Given the description of an element on the screen output the (x, y) to click on. 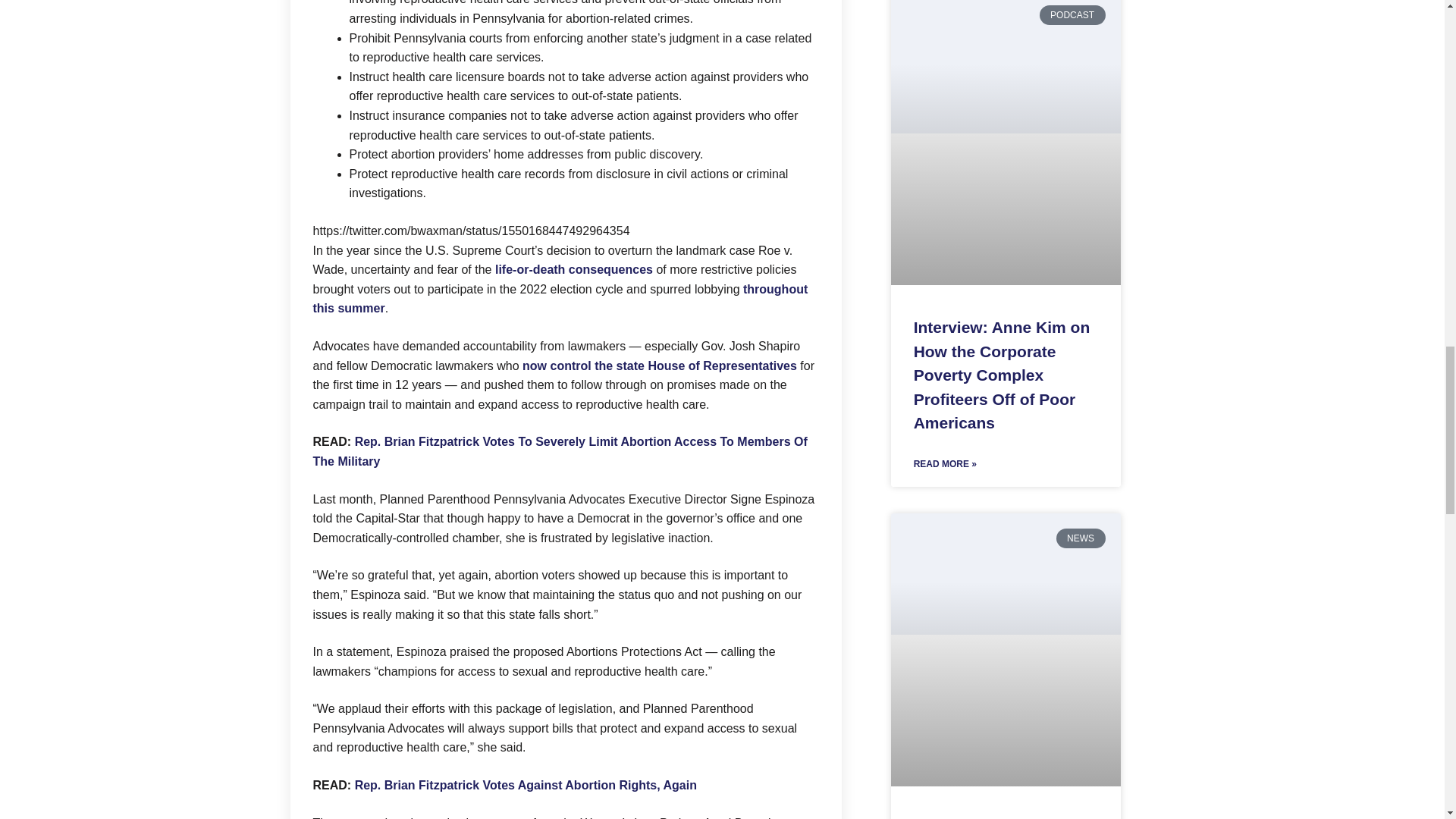
Rep. Brian Fitzpatrick Votes Against Abortion Rights, Again (526, 784)
life-or-death consequences (573, 269)
throughout this summer (560, 298)
now control the state House of Representatives (659, 365)
